Given the description of an element on the screen output the (x, y) to click on. 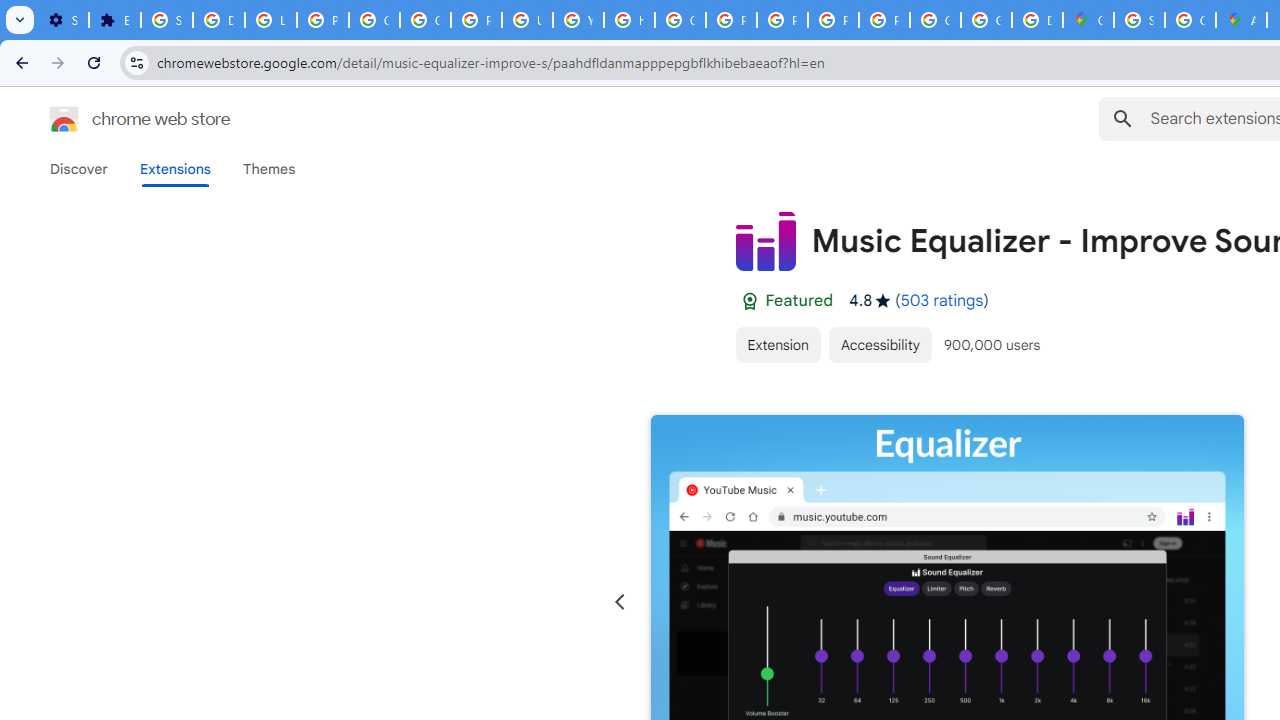
Sign in - Google Accounts (1138, 20)
Discover (79, 169)
View site information (136, 62)
Extensions (174, 169)
Extension (777, 344)
Privacy Help Center - Policies Help (731, 20)
Google Account Help (374, 20)
Search tabs (20, 20)
Extensions (114, 20)
Reload (93, 62)
Accessibility (879, 344)
Forward (57, 62)
